Given the description of an element on the screen output the (x, y) to click on. 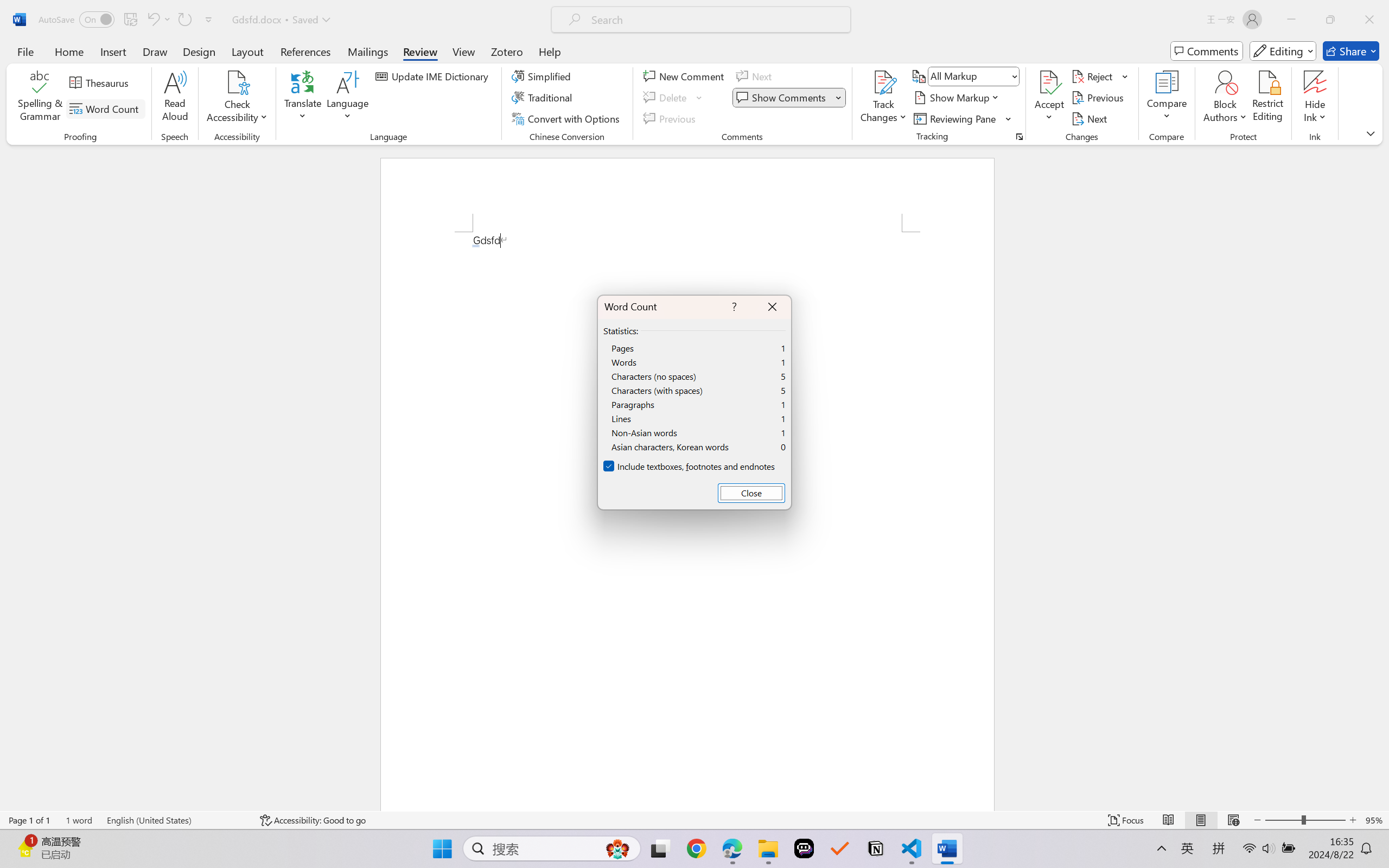
Restrict Editing (1267, 97)
Undo AutoCorrect (152, 19)
